Given the description of an element on the screen output the (x, y) to click on. 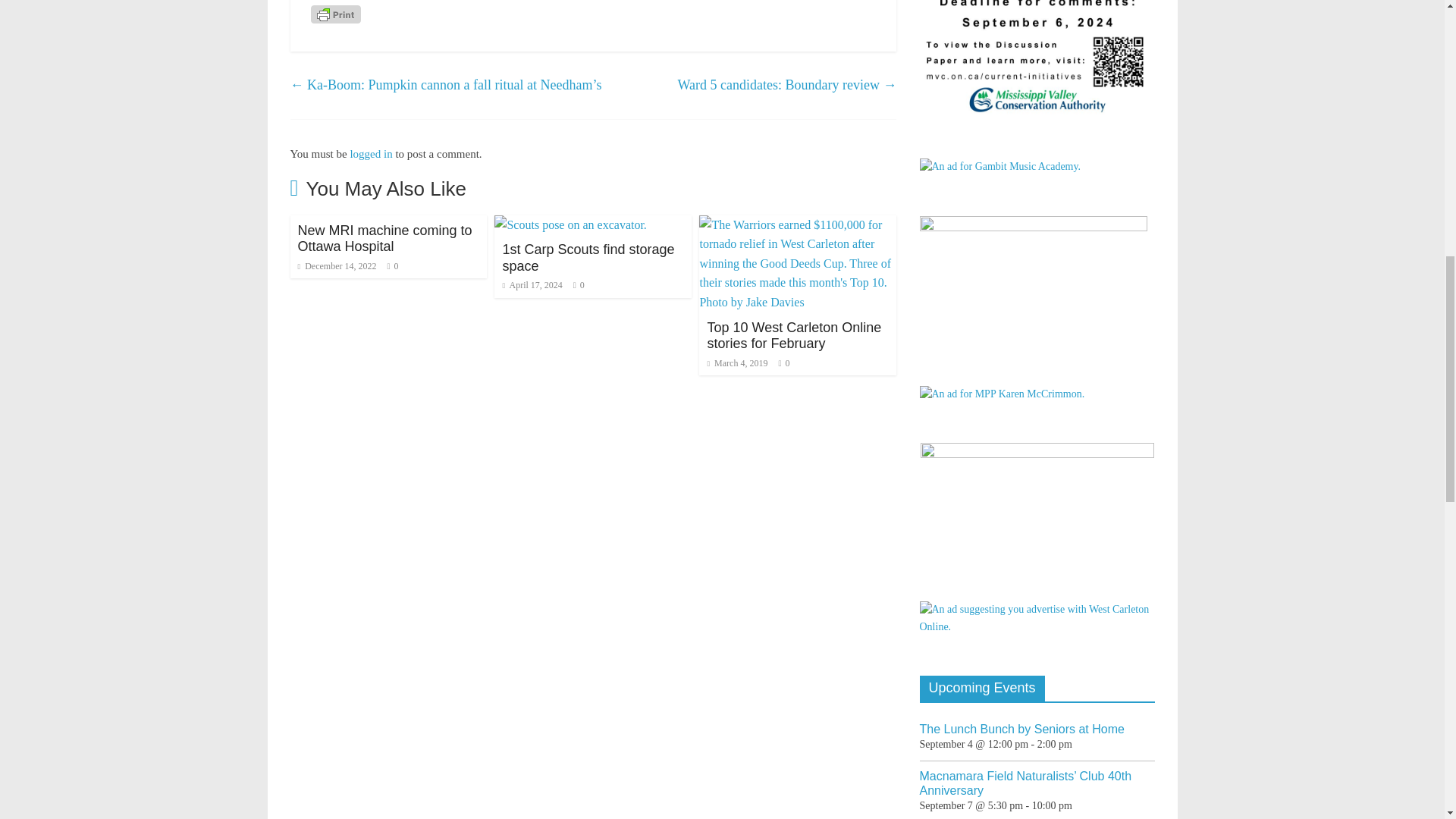
Top 10 West Carleton Online stories for February (793, 336)
1st Carp Scouts find storage space (588, 257)
Top 10 West Carleton Online stories for February (797, 224)
April 17, 2024 (532, 285)
9:07 pm (336, 266)
New MRI machine coming to Ottawa Hospital (384, 238)
1st Carp Scouts find storage space (570, 224)
logged in (370, 153)
New MRI machine coming to Ottawa Hospital (384, 238)
1st Carp Scouts find storage space (588, 257)
